Given the description of an element on the screen output the (x, y) to click on. 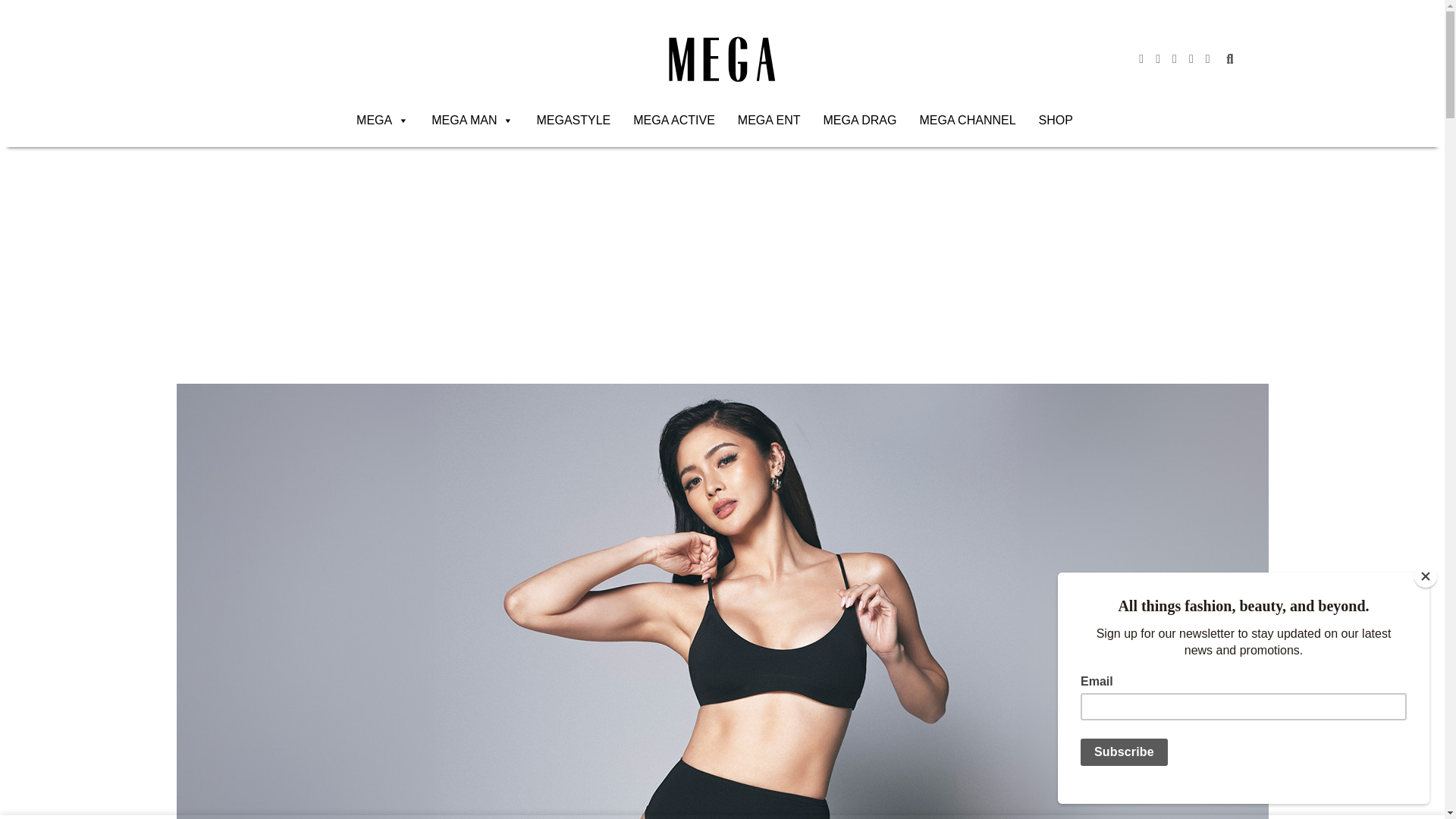
MEGA ENT (769, 120)
MEGA ACTIVE (673, 120)
MEGA CHANNEL (967, 120)
MEGA DRAG (860, 120)
MEGASTYLE (573, 120)
MEGA (382, 120)
SHOP (1056, 120)
MEGA MAN (472, 120)
